Given the description of an element on the screen output the (x, y) to click on. 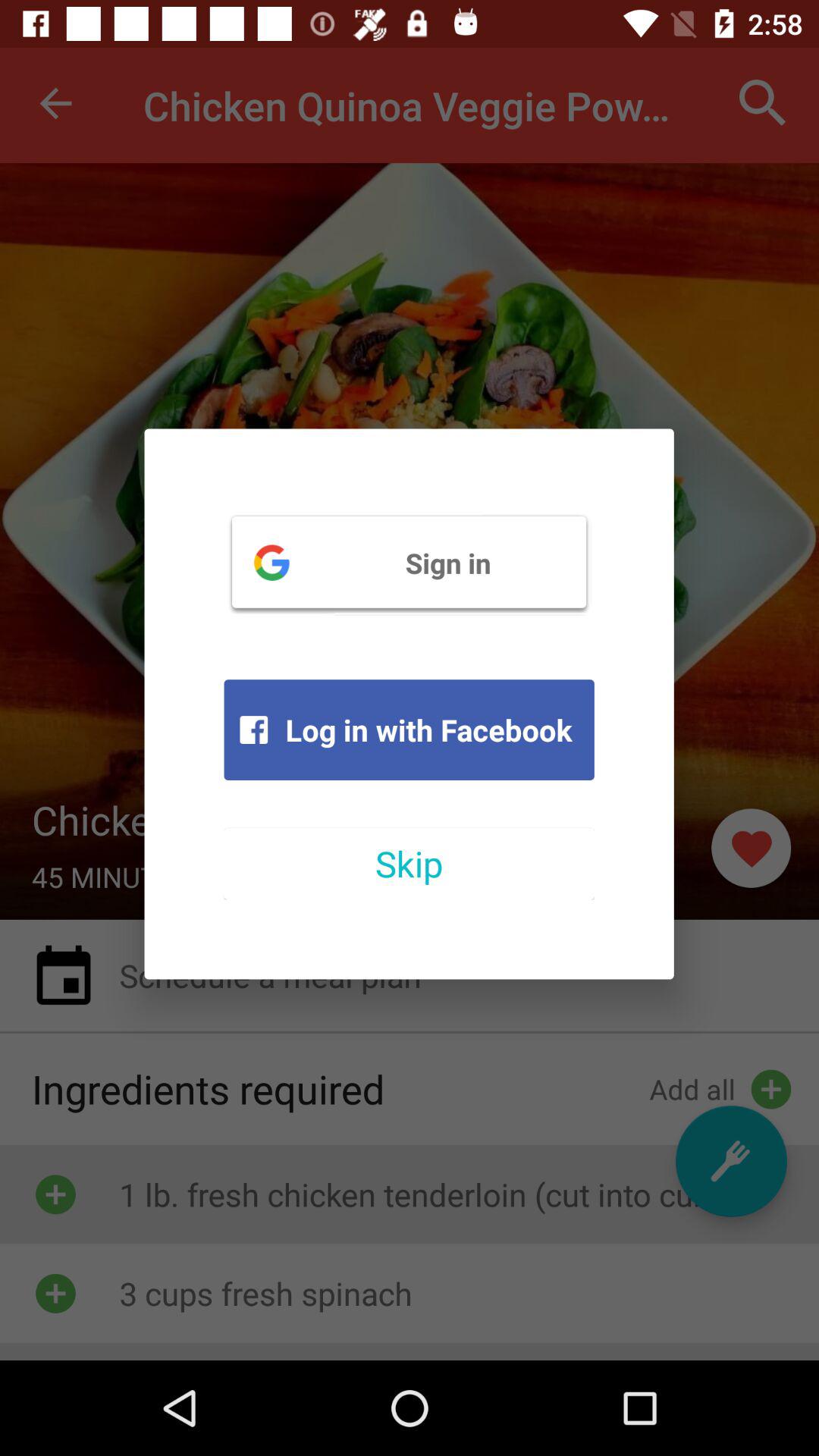
turn off the item below sign in icon (409, 729)
